Given the description of an element on the screen output the (x, y) to click on. 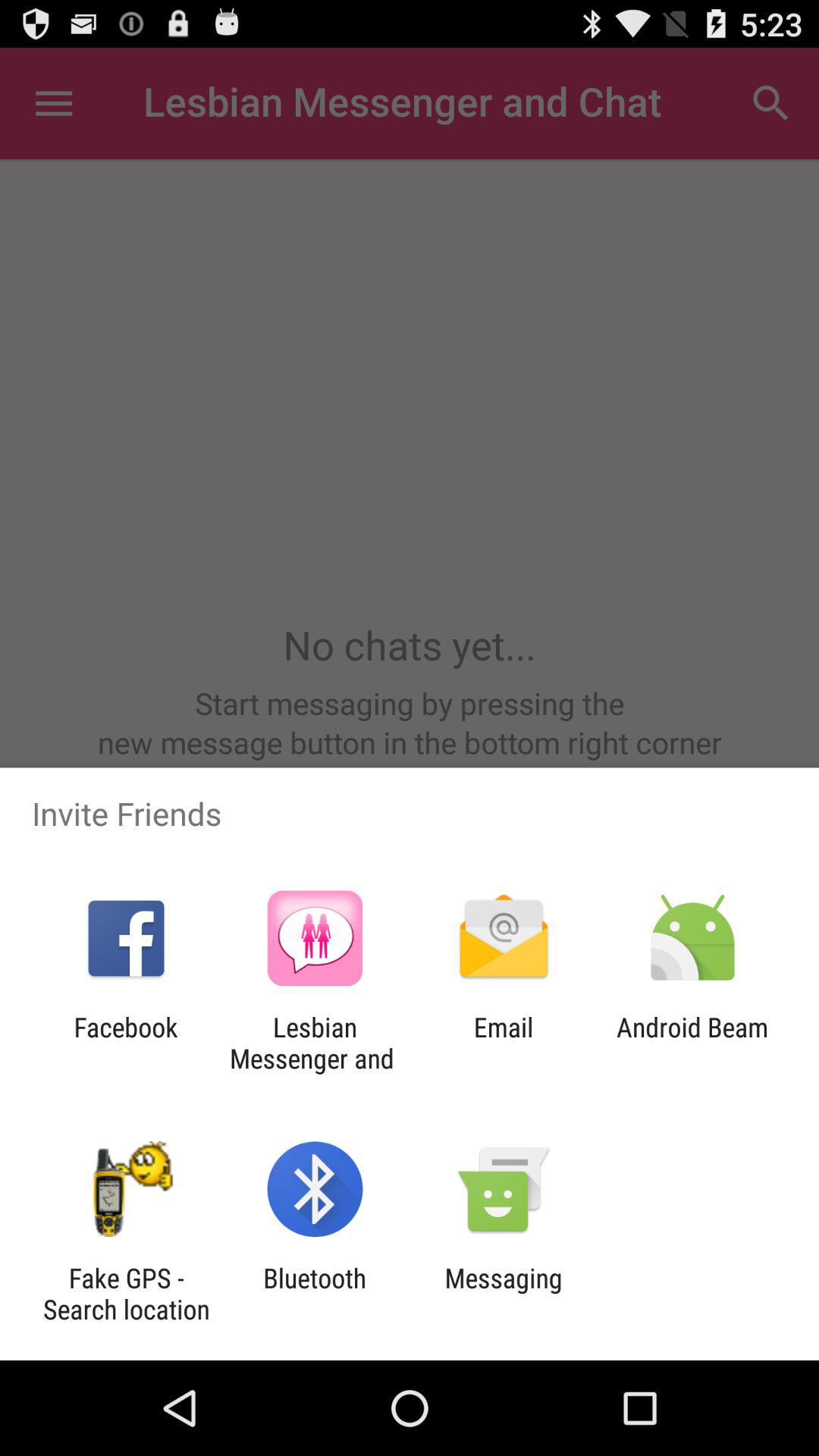
click the facebook item (125, 1042)
